Given the description of an element on the screen output the (x, y) to click on. 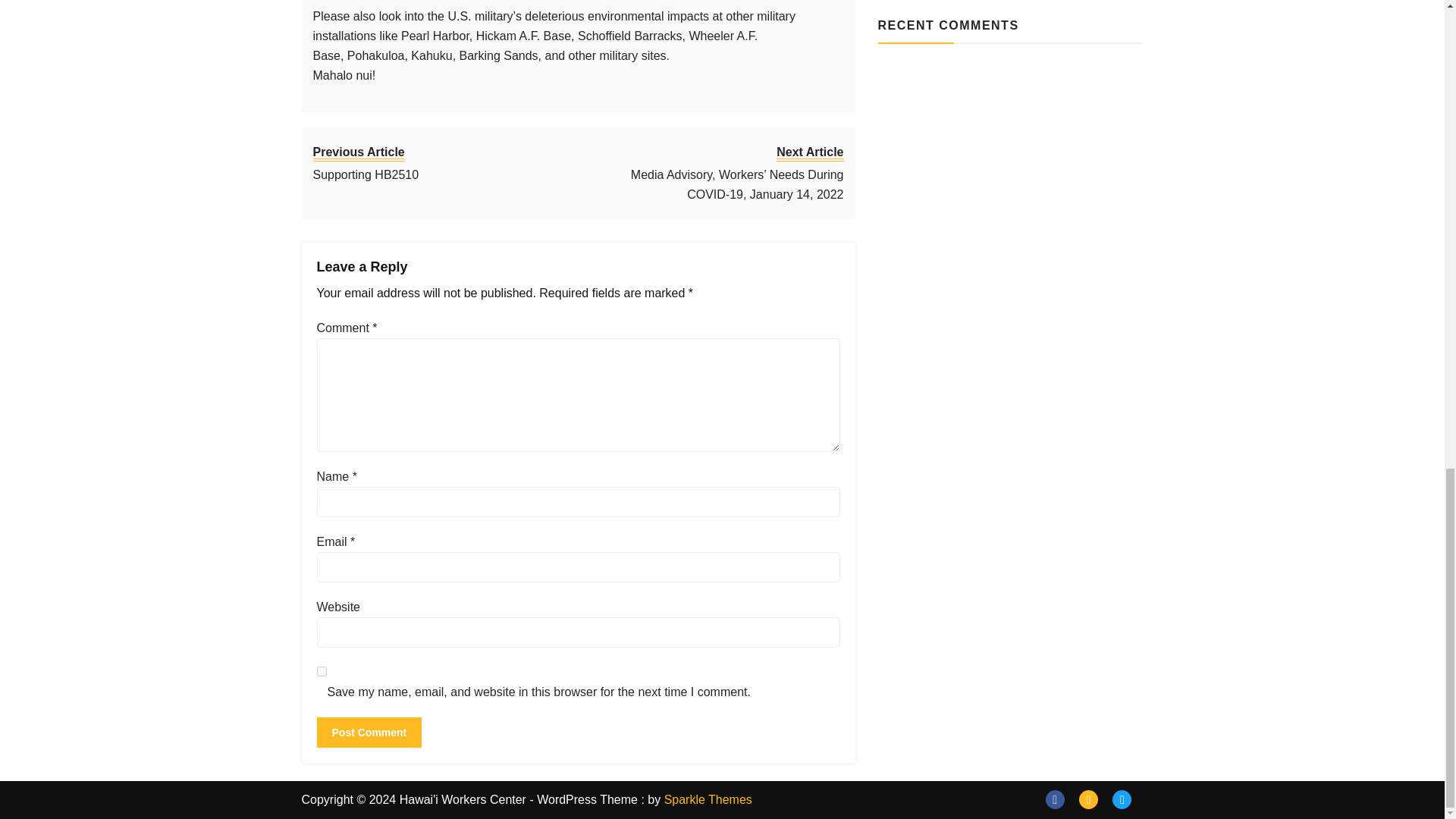
yes (321, 671)
Post Comment (369, 732)
